Given the description of an element on the screen output the (x, y) to click on. 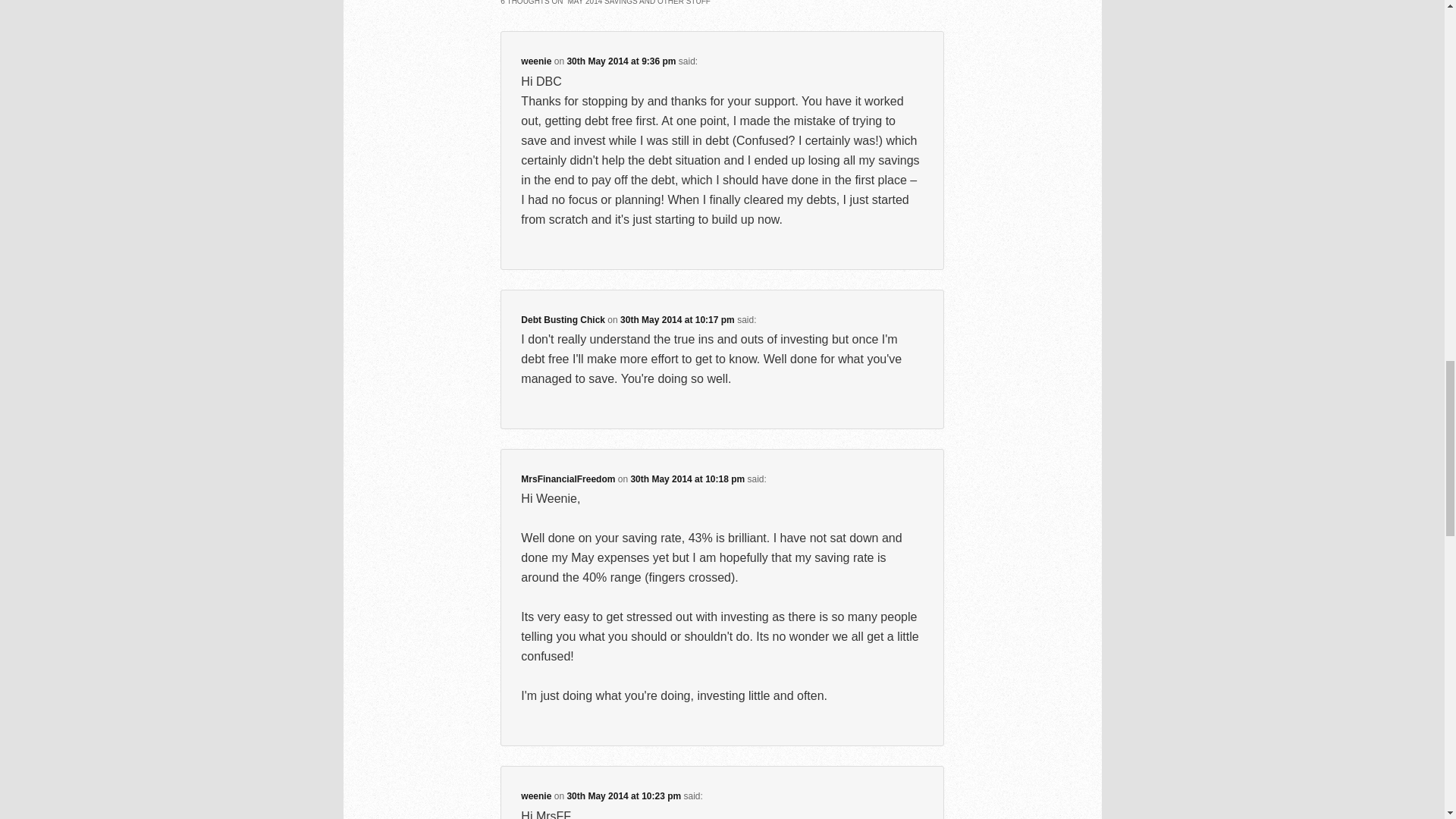
weenie (536, 796)
30th May 2014 at 10:17 pm (677, 319)
30th May 2014 at 9:36 pm (620, 61)
Debt Busting Chick (563, 319)
30th May 2014 at 10:18 pm (687, 479)
weenie (536, 61)
MrsFinancialFreedom (567, 479)
